Given the description of an element on the screen output the (x, y) to click on. 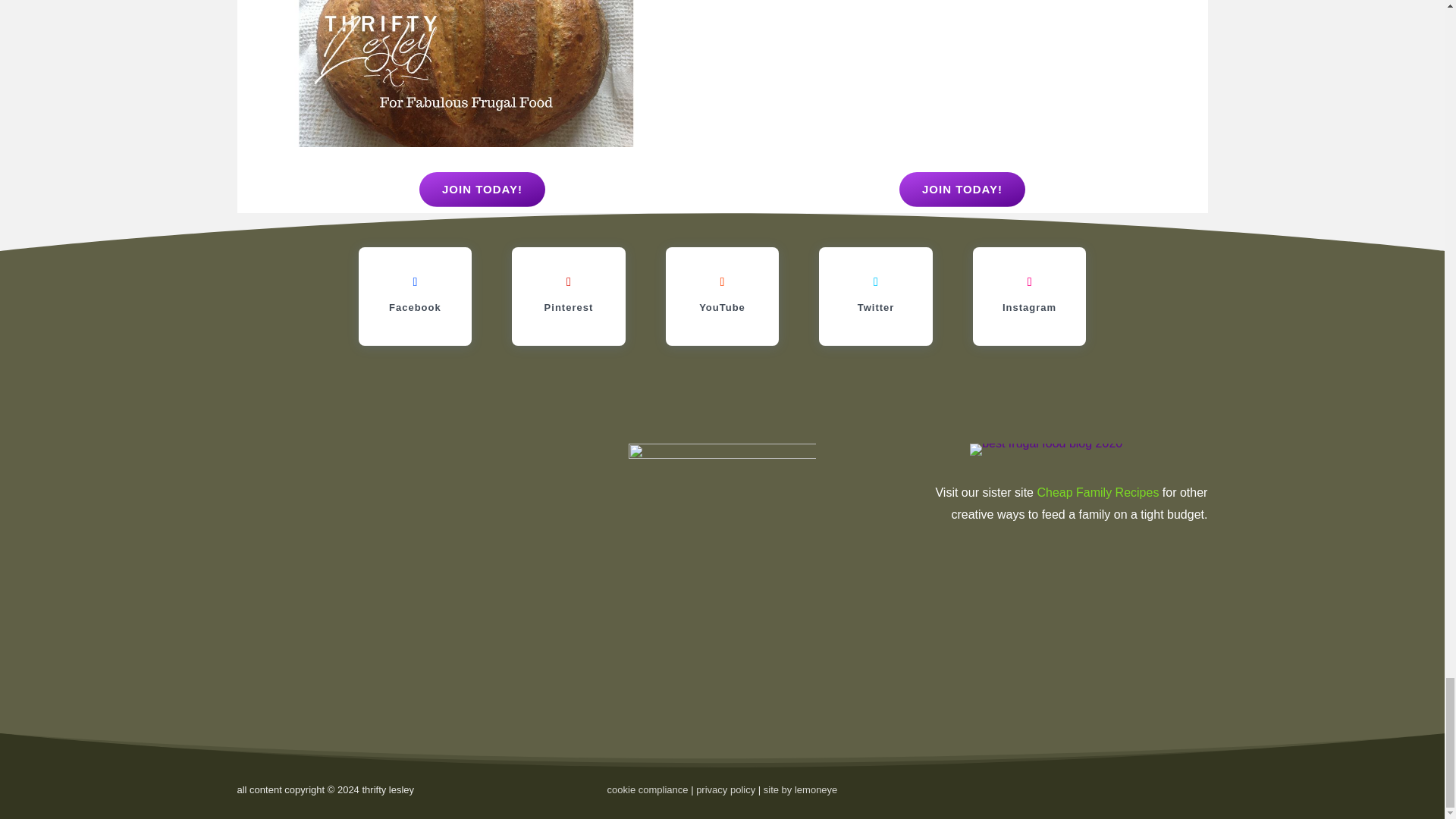
JOIN TODAY! (962, 189)
Follow on Youtube (721, 282)
JOIN TODAY! (481, 189)
Follow on Facebook (414, 282)
Follow on X (875, 282)
Follow on Pinterest (568, 282)
Follow on Instagram (1029, 282)
best frugal food blog 2020 (1045, 449)
